Given the description of an element on the screen output the (x, y) to click on. 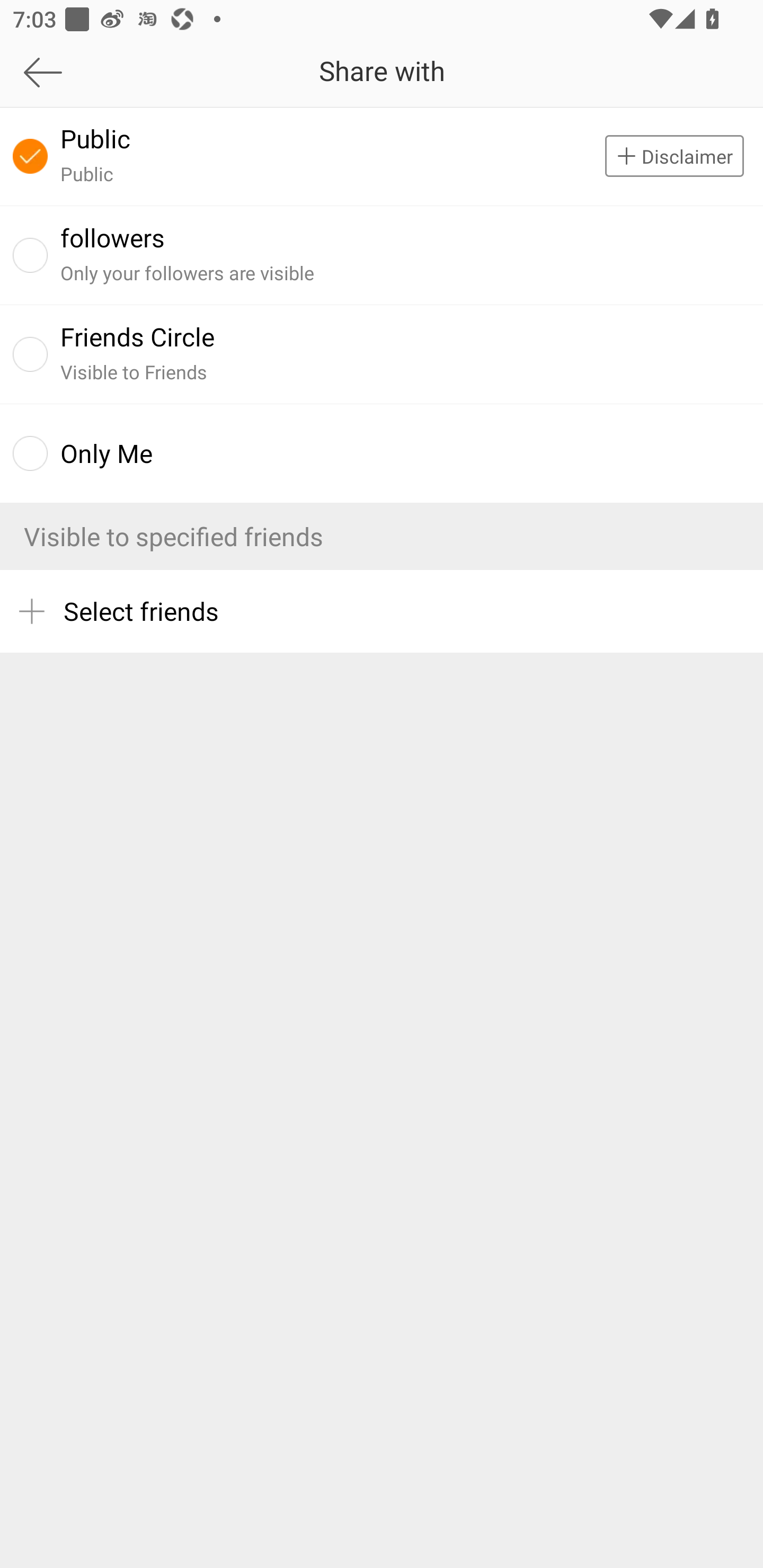
Back (100, 71)
Public Public Disclaimer (381, 155)
Disclaimer (684, 155)
followers Only your followers are visible (381, 254)
Friends Circle Visible to Friends (381, 353)
Only Me (381, 453)
Visible to specified friends (381, 536)
Select friends (381, 611)
